Given the description of an element on the screen output the (x, y) to click on. 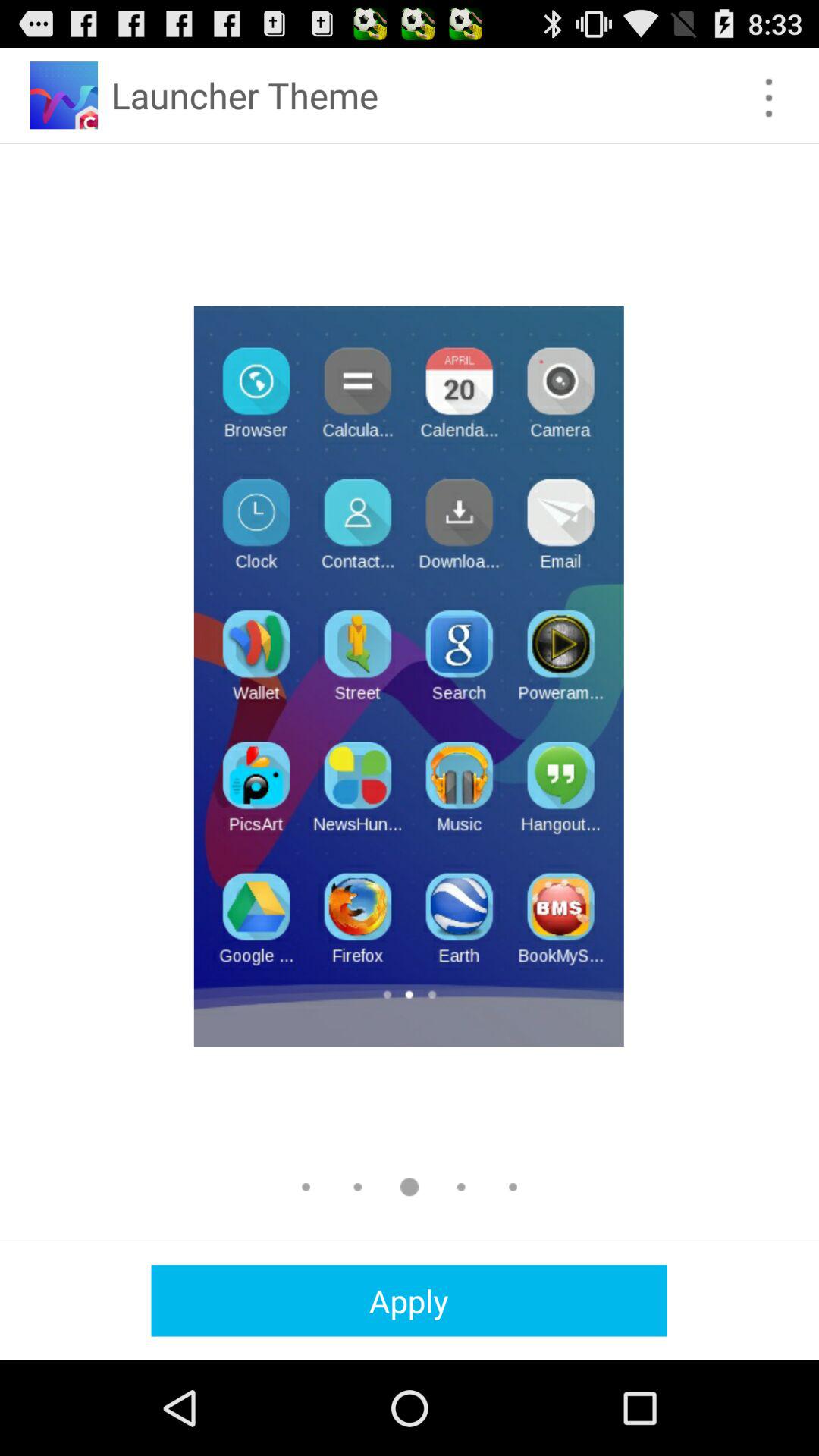
launch the item next to launcher theme icon (768, 97)
